Given the description of an element on the screen output the (x, y) to click on. 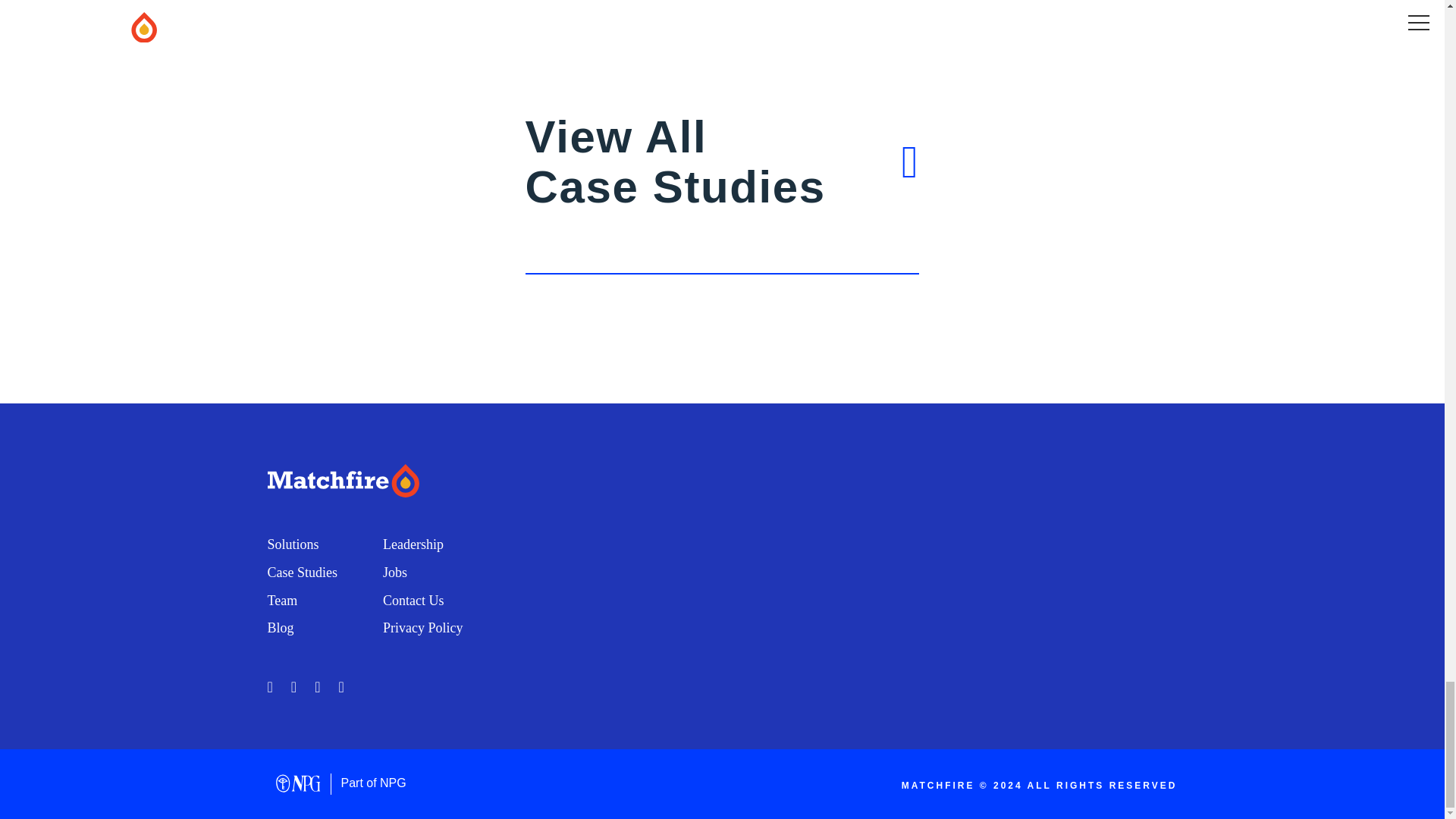
Contact Us (413, 600)
Team (281, 600)
Blog (280, 627)
Jobs (394, 572)
Solutions (292, 544)
Case Studies (301, 572)
Matchfire (387, 482)
Leadership (722, 193)
Privacy Policy (413, 544)
Part of NPG (422, 627)
